Given the description of an element on the screen output the (x, y) to click on. 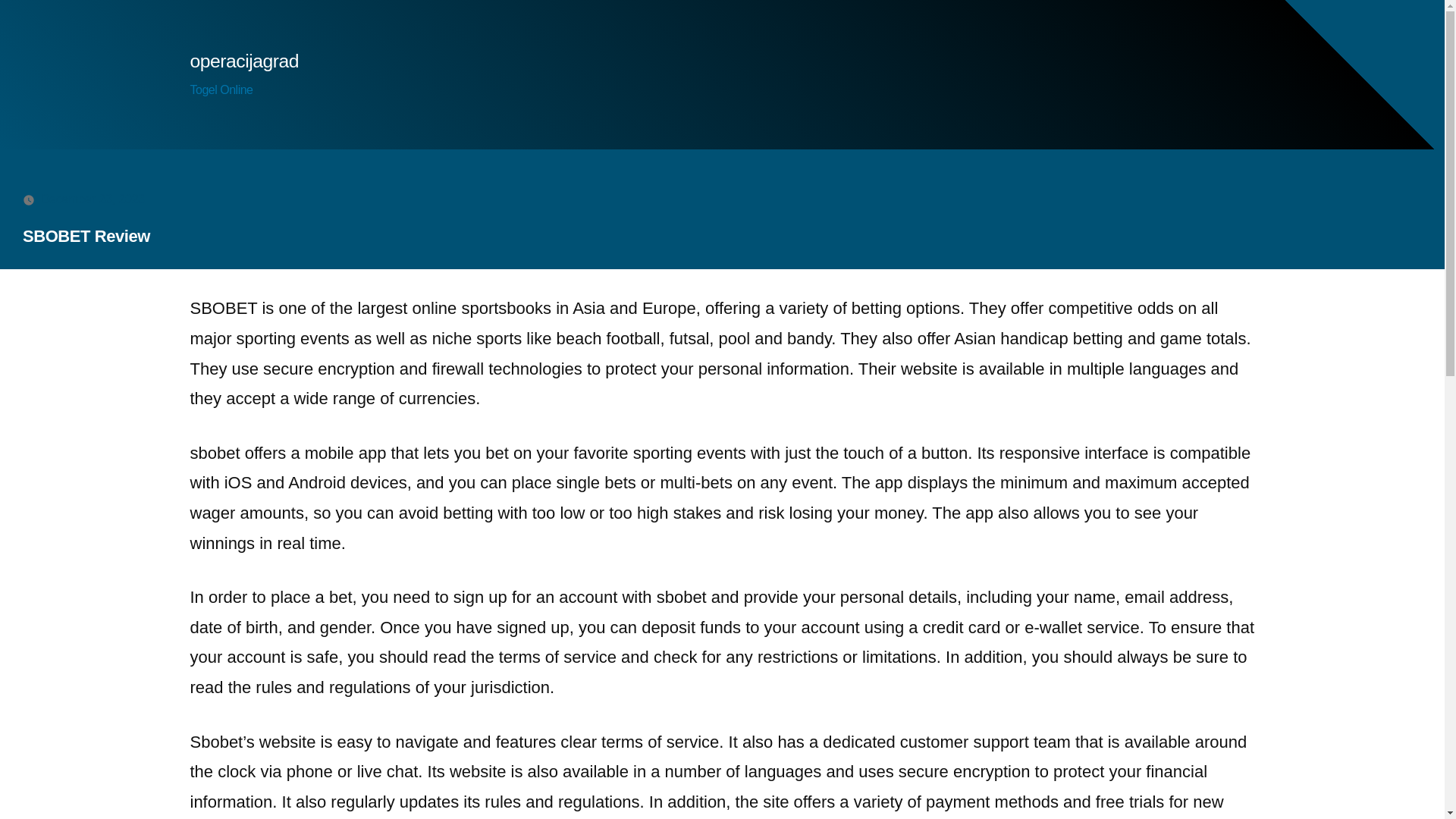
Togel Online (220, 89)
December 23, 2023 (92, 198)
operacijagrad (243, 60)
